Given the description of an element on the screen output the (x, y) to click on. 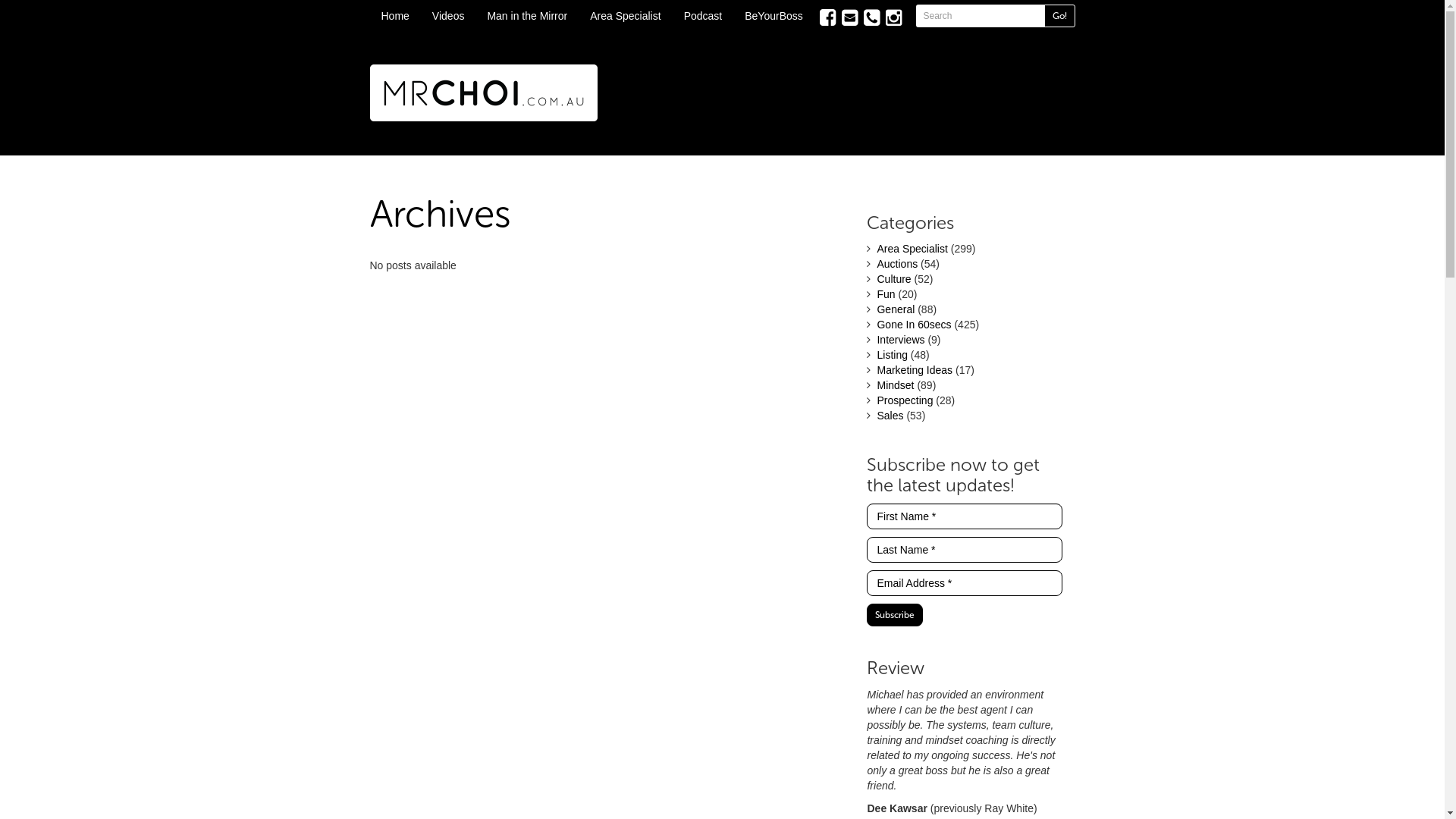
BeYourBoss Element type: text (773, 15)
Podcast Element type: text (703, 15)
Man in the Mirror Element type: text (526, 15)
Area Specialist Element type: text (911, 248)
Home Element type: text (395, 15)
Interviews Element type: text (900, 339)
Email me Element type: text (849, 17)
Area Specialist Element type: text (624, 15)
Sales Element type: text (889, 415)
Culture Element type: text (893, 279)
Call me Element type: text (870, 17)
General Element type: text (895, 309)
Like me on Facebook Element type: text (826, 17)
Instagram Element type: text (893, 17)
Auctions Element type: text (896, 263)
Gone In 60secs Element type: text (913, 324)
Subscribe Element type: text (894, 614)
Fun Element type: text (885, 294)
Mindset Element type: text (894, 385)
Listing Element type: text (891, 354)
Videos Element type: text (448, 15)
Go! Element type: text (1058, 15)
Marketing Ideas Element type: text (914, 370)
Prospecting Element type: text (904, 400)
